Given the description of an element on the screen output the (x, y) to click on. 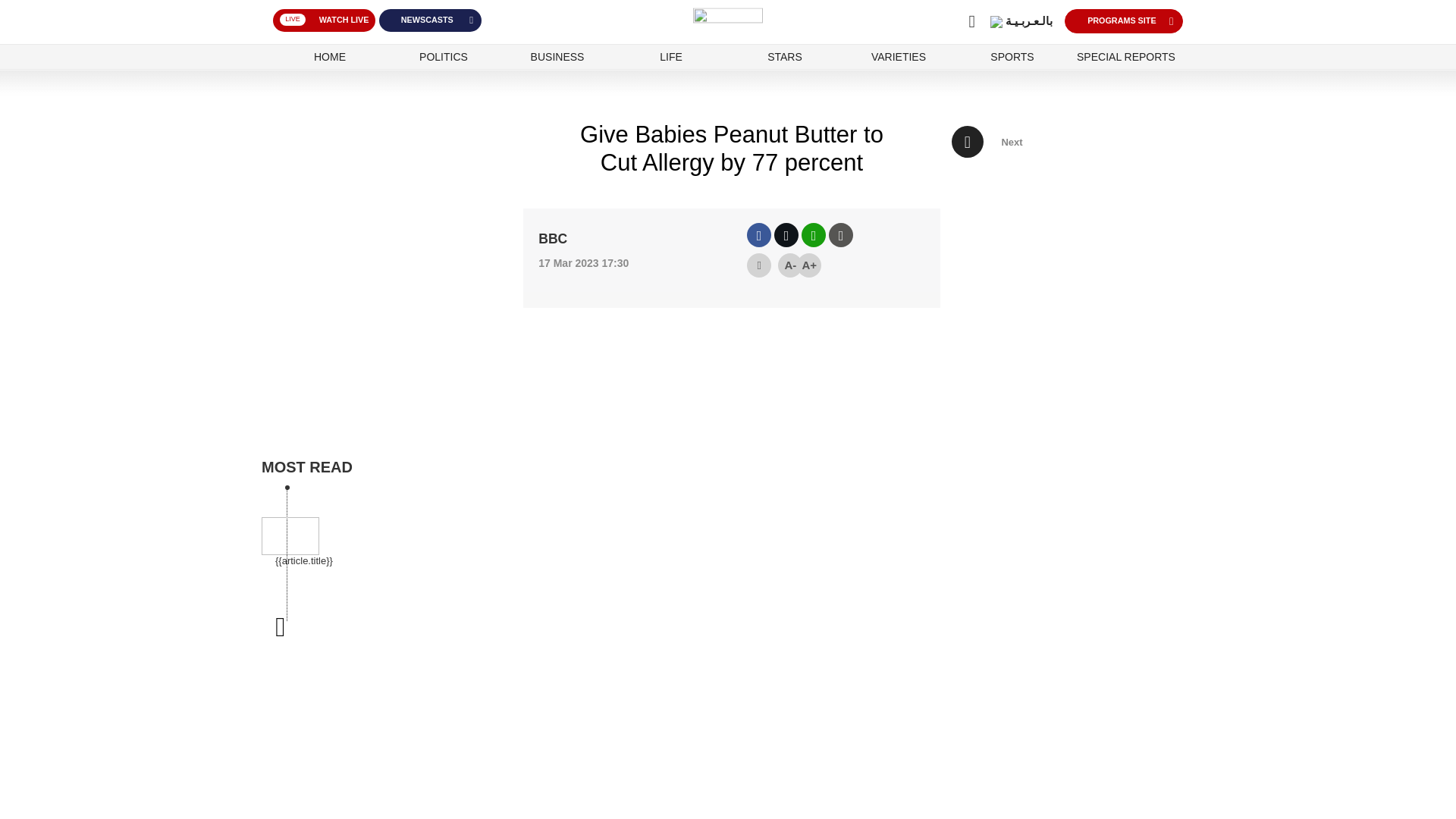
PROGRAMS SITE (1248, 22)
VARIETIES (897, 57)
POLITICS (443, 57)
NEWSCASTS (478, 22)
LIFE (670, 57)
HOME (329, 57)
STARS (784, 57)
BUSINESS (557, 57)
